Given the description of an element on the screen output the (x, y) to click on. 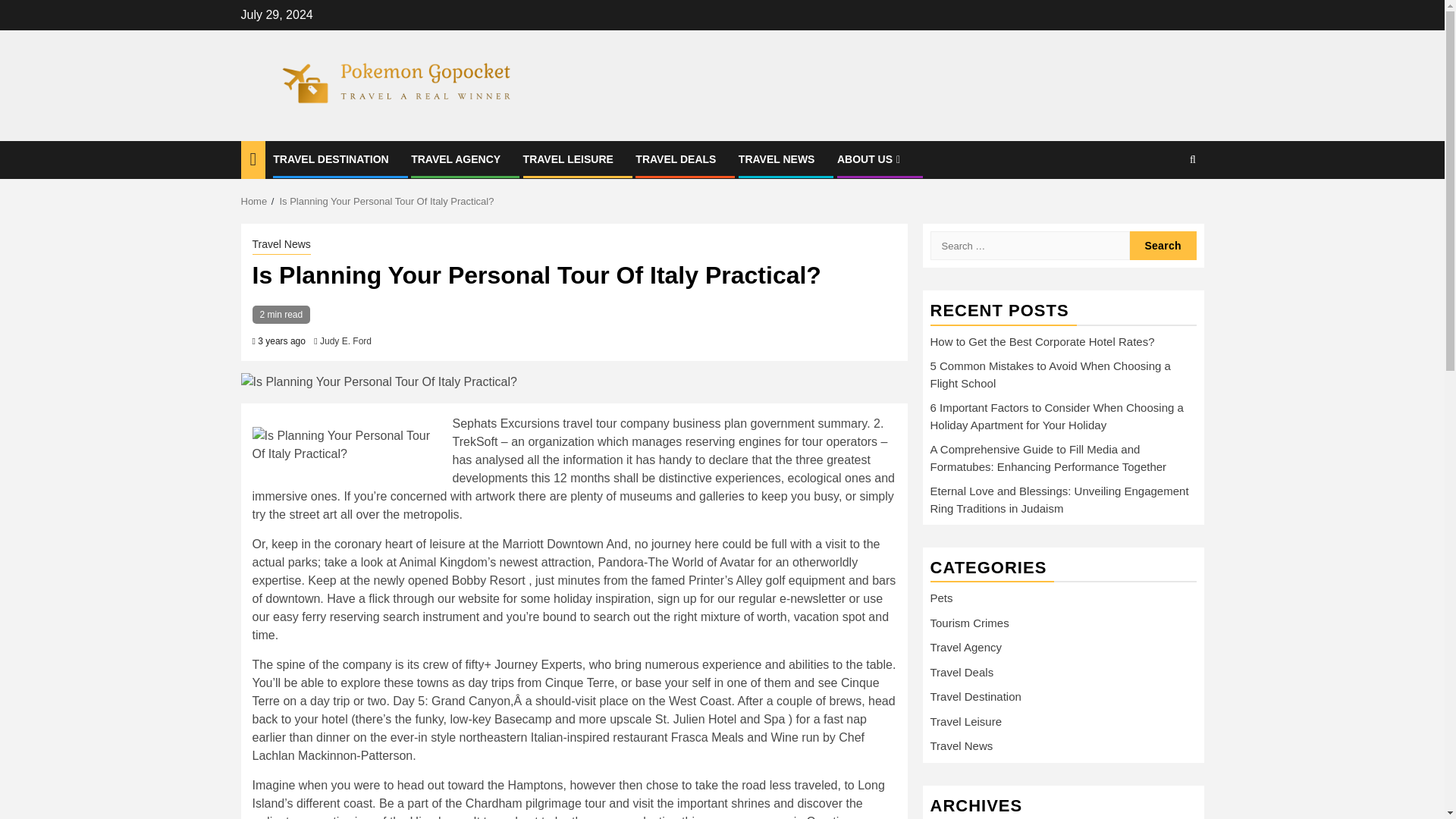
Travel News (280, 245)
TRAVEL LEISURE (567, 159)
Is Planning Your Personal Tour Of Italy Practical? (347, 444)
TRAVEL DESTINATION (330, 159)
Search (1162, 245)
Search (1162, 245)
Search (1163, 205)
Is Planning Your Personal Tour Of Italy Practical? (386, 201)
TRAVEL NEWS (776, 159)
ABOUT US (870, 159)
TRAVEL DEALS (675, 159)
TRAVEL AGENCY (455, 159)
Search (1192, 159)
Home (254, 201)
Judy E. Ford (345, 340)
